Given the description of an element on the screen output the (x, y) to click on. 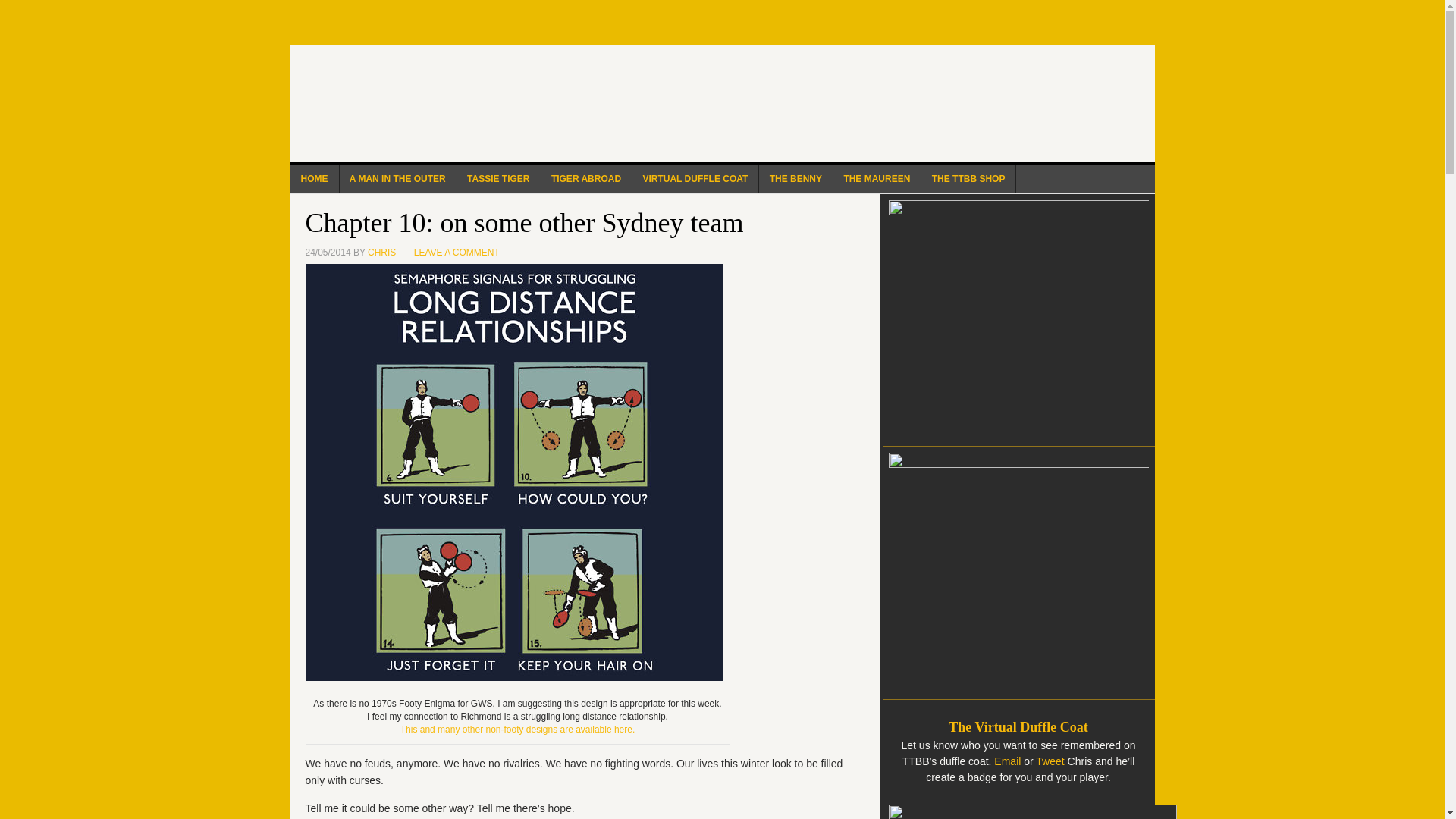
TIGER TIGER BURNING BRIGHT (721, 103)
THE BENNY (795, 178)
A MAN IN THE OUTER (398, 178)
LEAVE A COMMENT (456, 252)
Tweet (1049, 761)
CHRIS (382, 252)
Email (1008, 761)
VIRTUAL DUFFLE COAT (694, 178)
This and many other non-footy designs are available here. (517, 728)
The Virtual Duffle Coat (1018, 726)
TASSIE TIGER (498, 178)
THE MAUREEN (876, 178)
TIGER ABROAD (585, 178)
THE TTBB SHOP (968, 178)
HOME (314, 178)
